Given the description of an element on the screen output the (x, y) to click on. 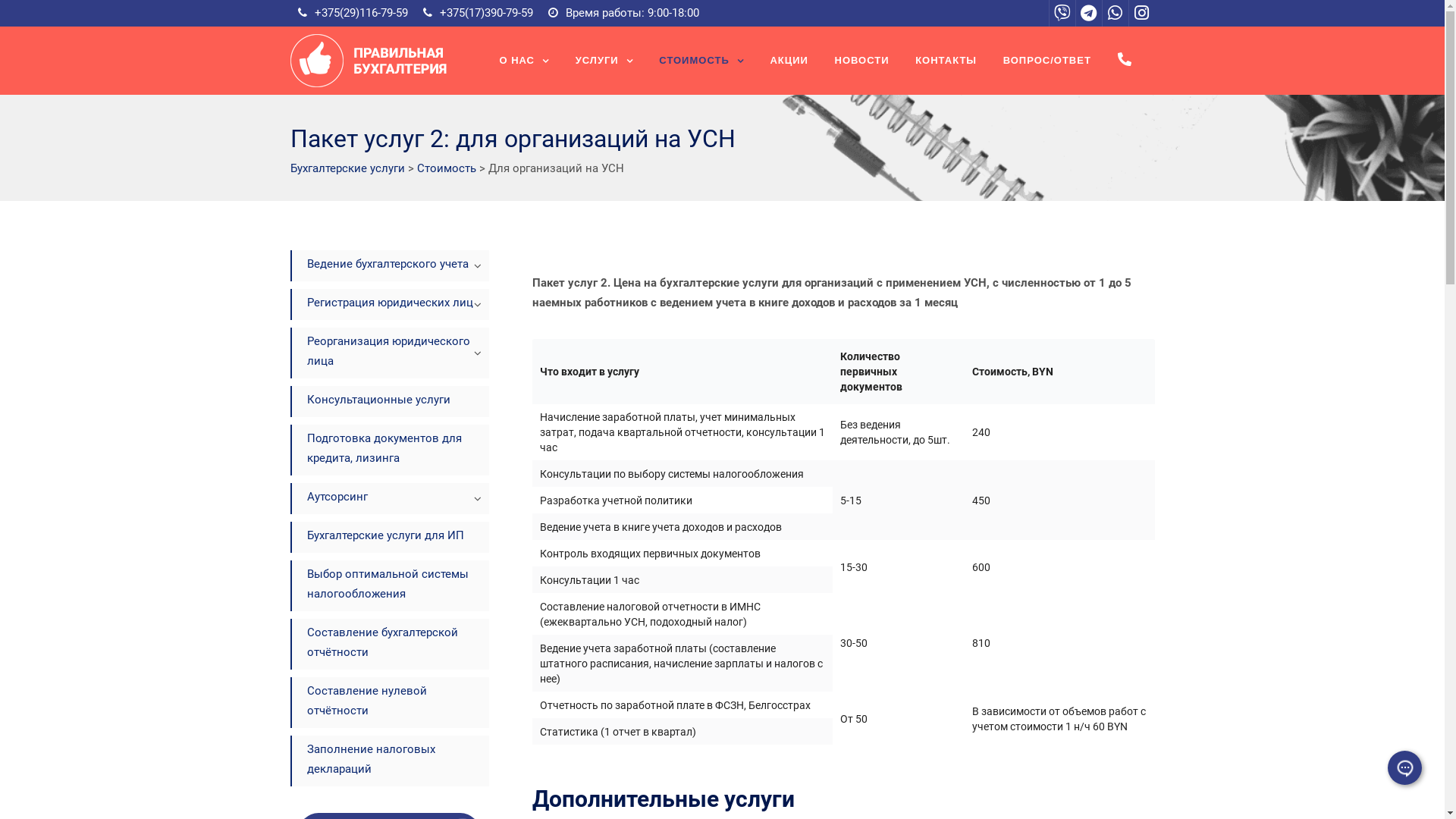
+375(29)116-79-59 Element type: text (360, 12)
+375(17)390-79-59 Element type: text (486, 12)
